Given the description of an element on the screen output the (x, y) to click on. 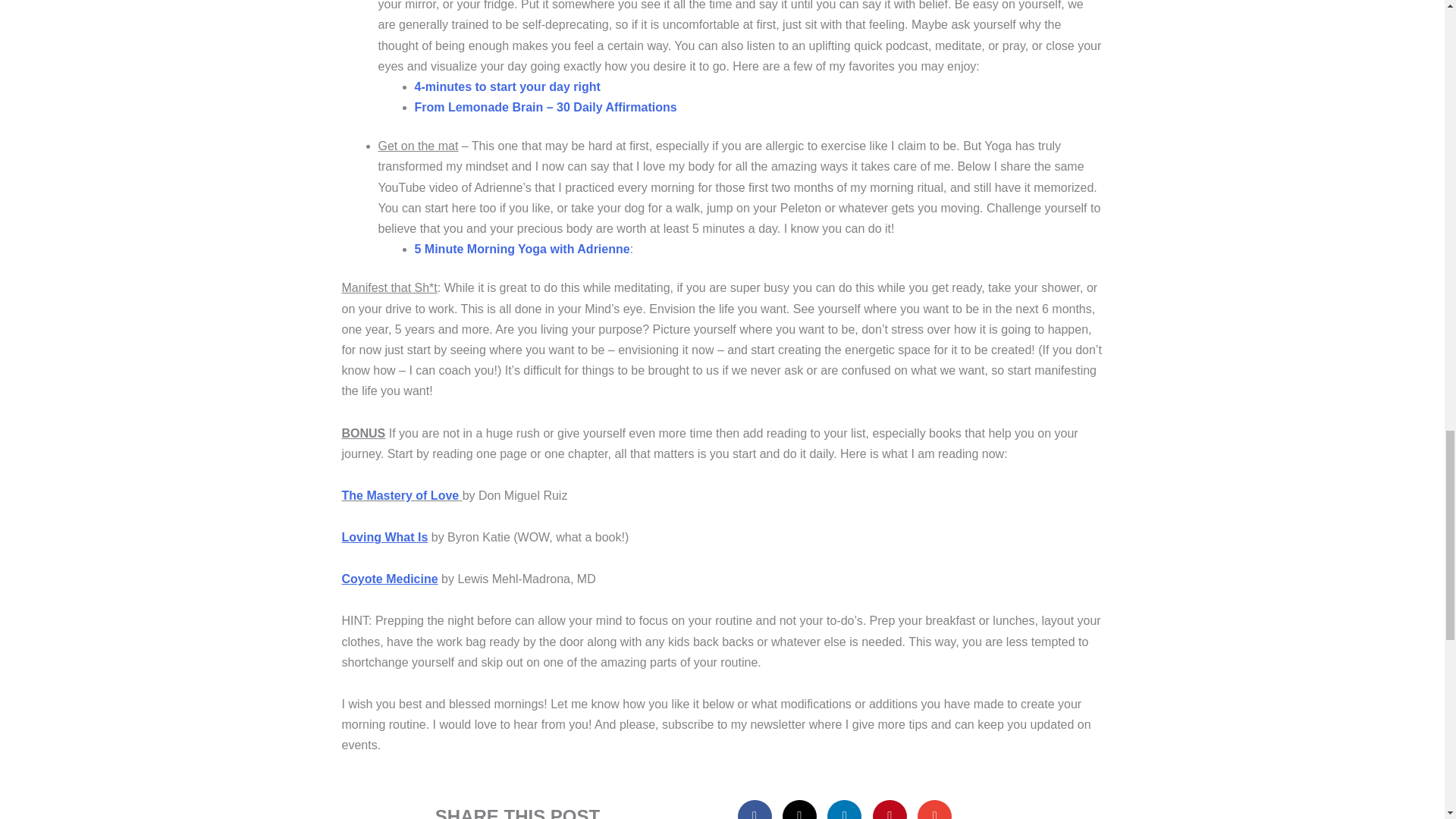
Coyote Medicine (389, 578)
The Mastery of Love (399, 495)
Share on linkedin (844, 809)
Share on pinterest (890, 809)
Loving What Is (384, 536)
Share on twitter (799, 809)
5 Minute Morning Yoga with Adrienne (520, 248)
4-minutes to start your day right (506, 86)
Share on facebook (754, 809)
Share on email (934, 809)
